Given the description of an element on the screen output the (x, y) to click on. 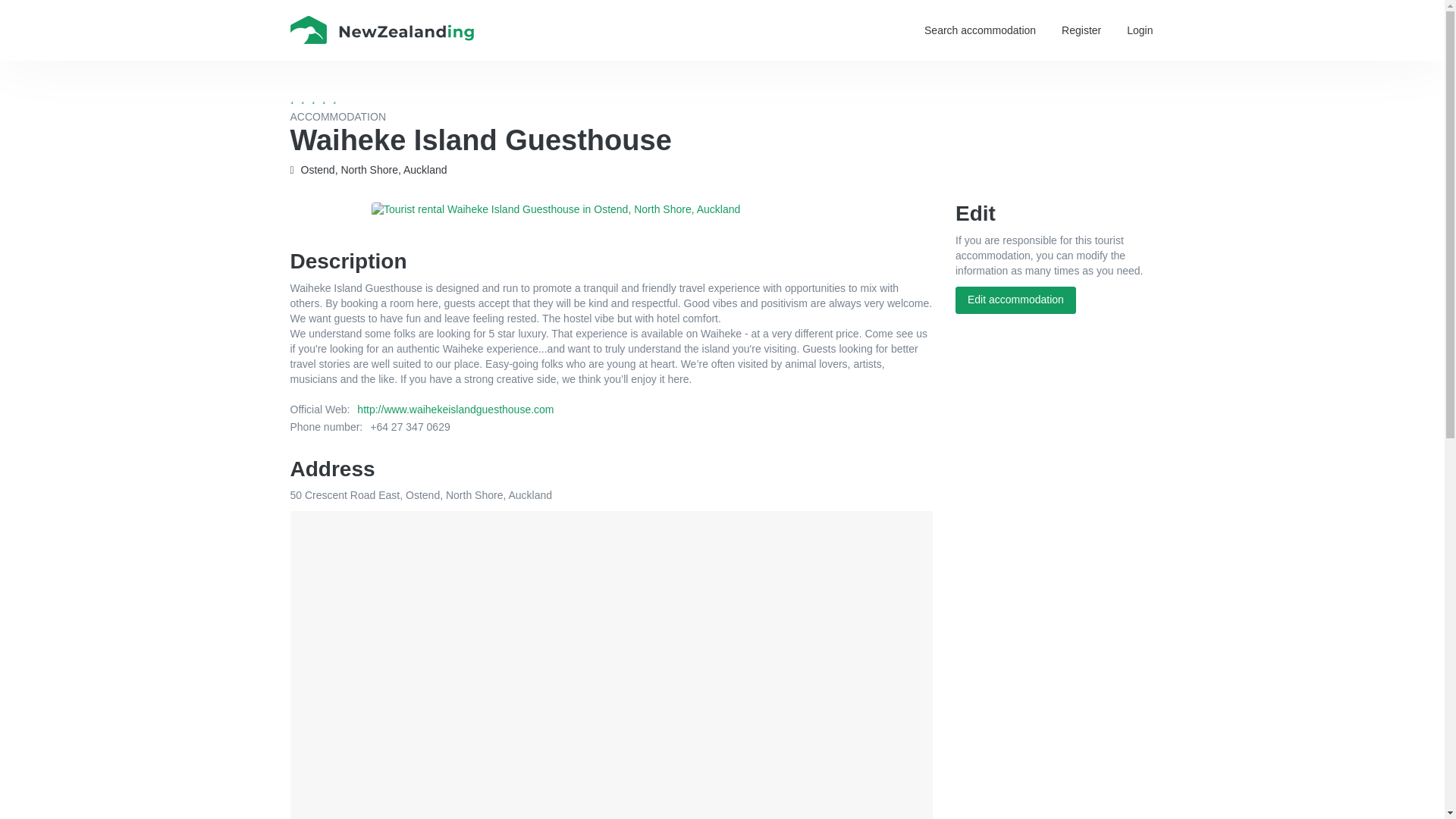
Login (1139, 30)
Search accommodation (979, 30)
Register (1080, 30)
Edit accommodation (1015, 299)
